Given the description of an element on the screen output the (x, y) to click on. 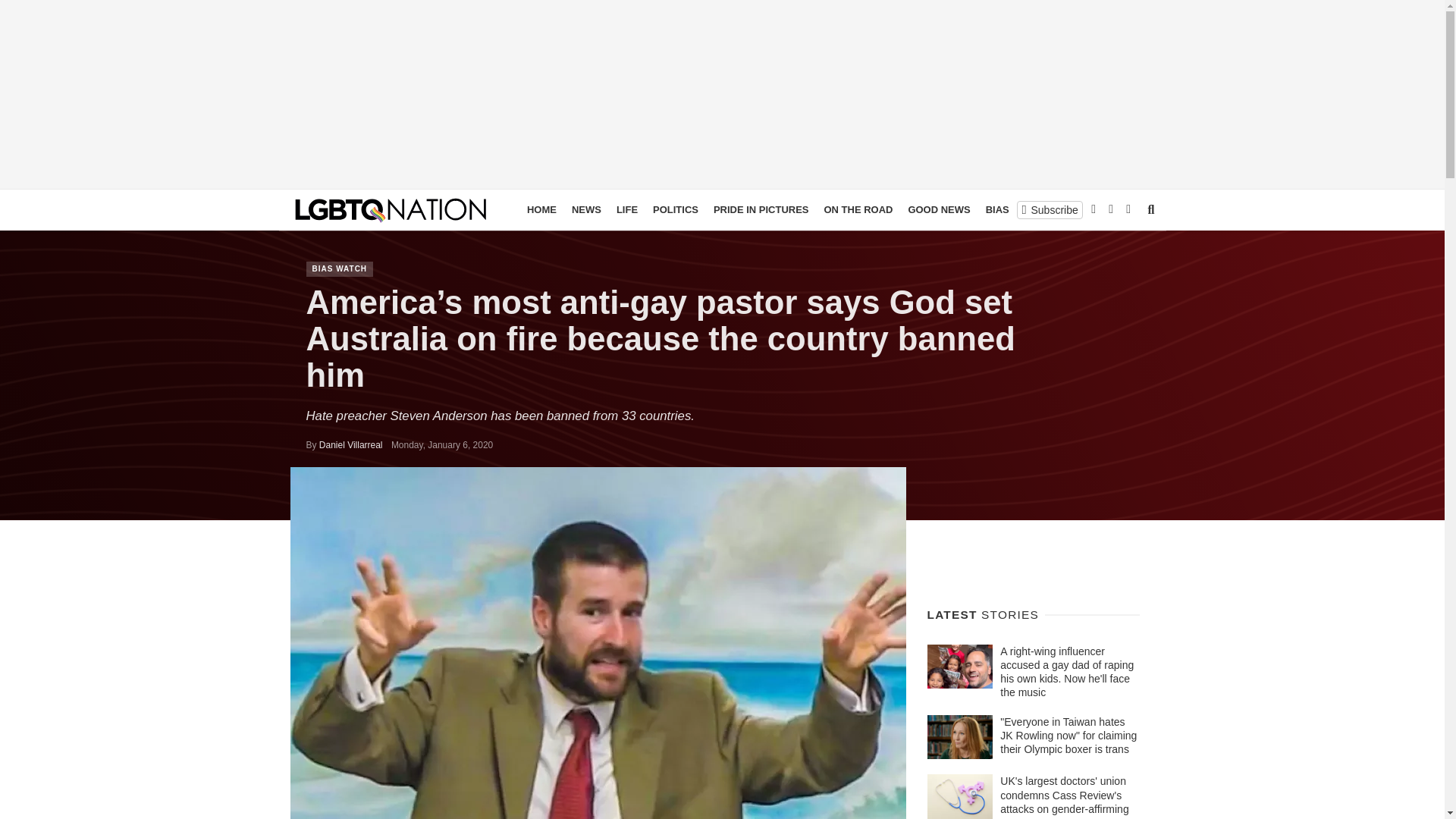
POLITICS (675, 209)
COMMENTARY (1097, 209)
Monday, January 6, 2020 am31 11:29:06 (442, 444)
BIAS WATCH (339, 268)
LIFE (626, 209)
Subscribe (1049, 209)
Posts by Daniel Villarreal (350, 444)
HOME (541, 209)
ON THE ROAD (857, 209)
